Given the description of an element on the screen output the (x, y) to click on. 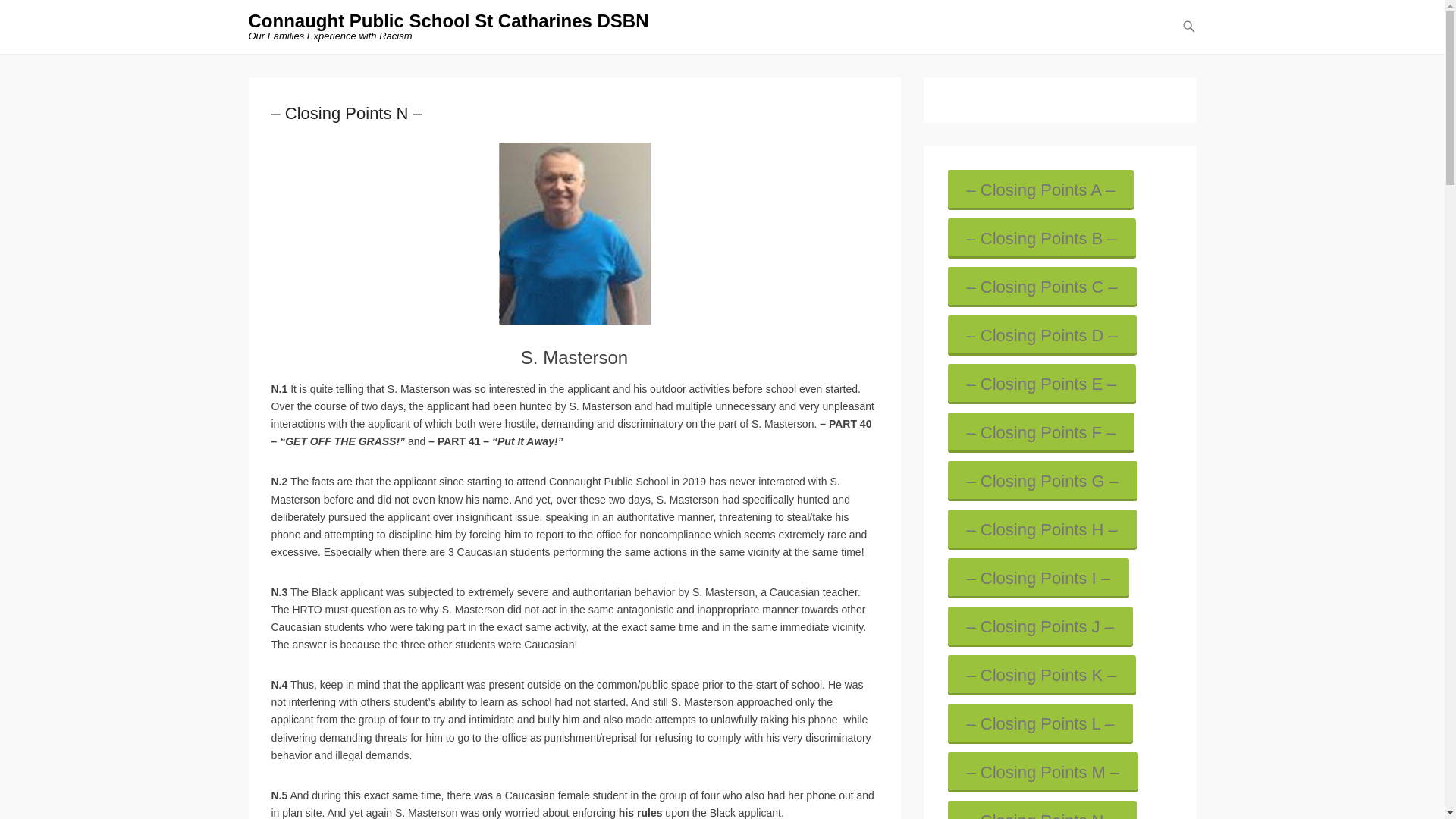
Skip to content (1193, 35)
Connaught Public School St Catharines DSBN (448, 20)
Connaught Public School St Catharines DSBN (448, 20)
Skip to content (1193, 35)
